Given the description of an element on the screen output the (x, y) to click on. 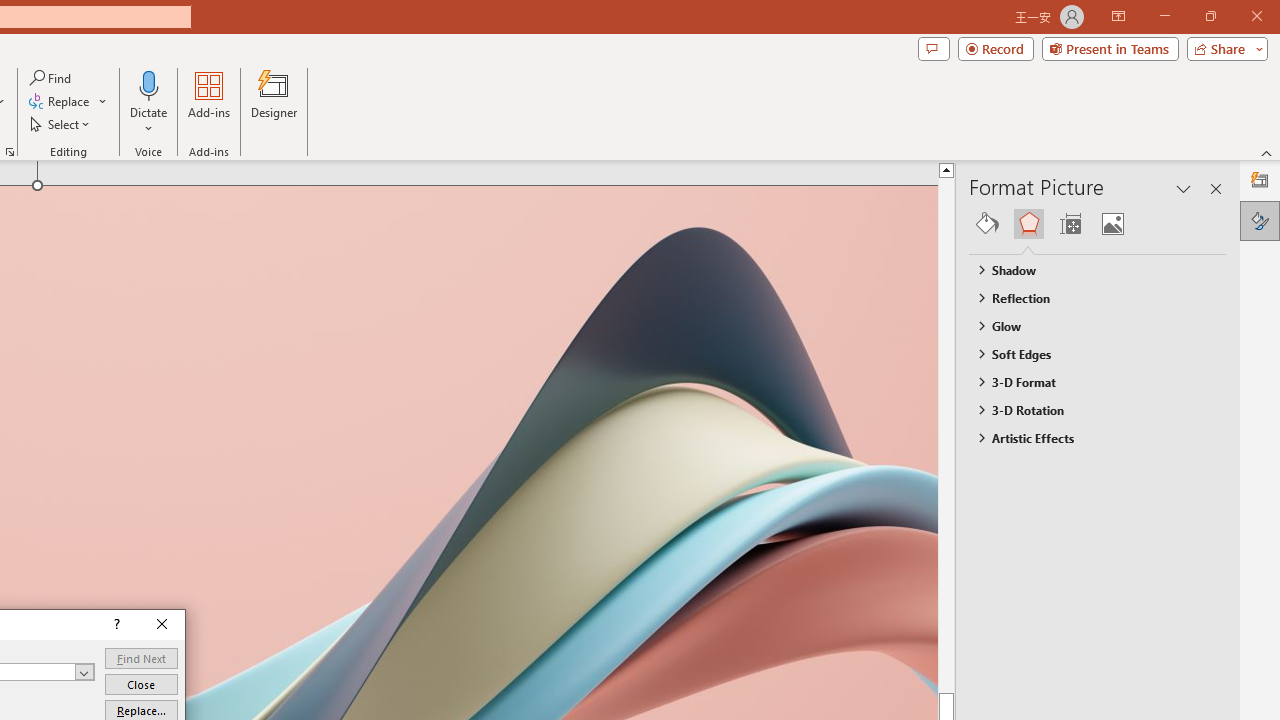
Effects (1028, 223)
Format Picture (1260, 220)
Format Object... (9, 151)
Find... (51, 78)
Class: NetUIGalleryContainer (1098, 223)
Glow (1088, 325)
Picture (1112, 223)
